Given the description of an element on the screen output the (x, y) to click on. 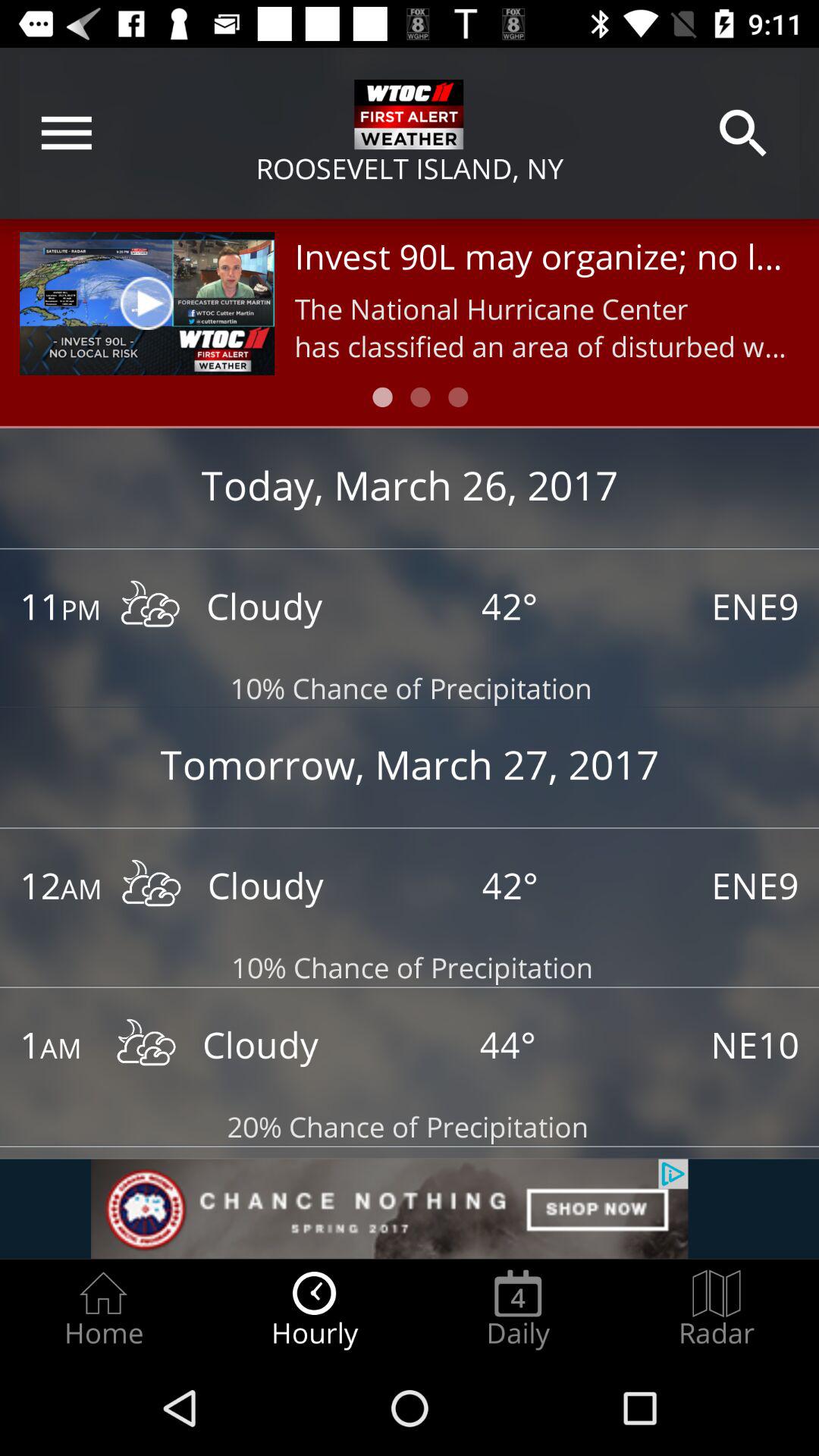
swipe until home item (103, 1309)
